Given the description of an element on the screen output the (x, y) to click on. 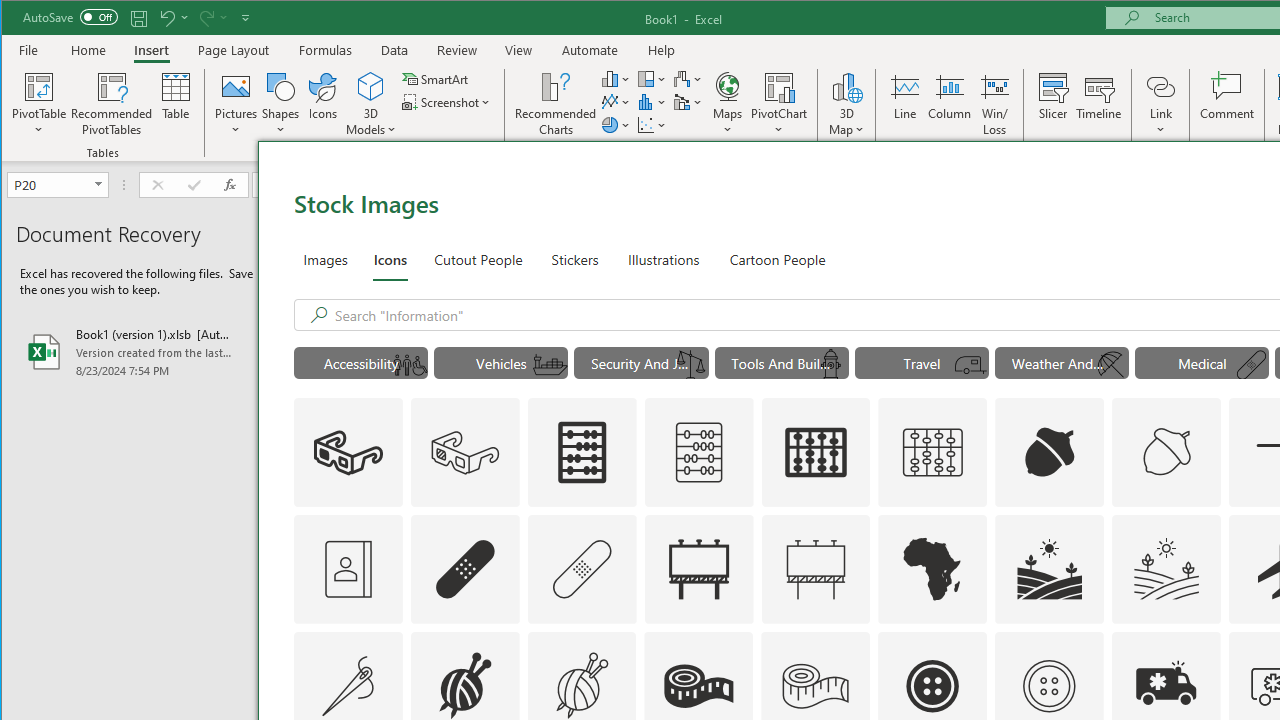
Insert Hierarchy Chart (652, 78)
Link (1160, 104)
Screenshot (447, 101)
AutomationID: Icons_Freight_M (550, 365)
Thumbnail (1205, 646)
Cutout People (478, 258)
Insert Combo Chart (688, 101)
Insert Waterfall, Funnel, Stock, Surface, or Radar Chart (688, 78)
Stickers (575, 258)
AutomationID: Icons_3dGlasses (348, 452)
AutomationID: Icons_Trailer_M (971, 365)
"Tools And Building" Icons. (781, 362)
